Given the description of an element on the screen output the (x, y) to click on. 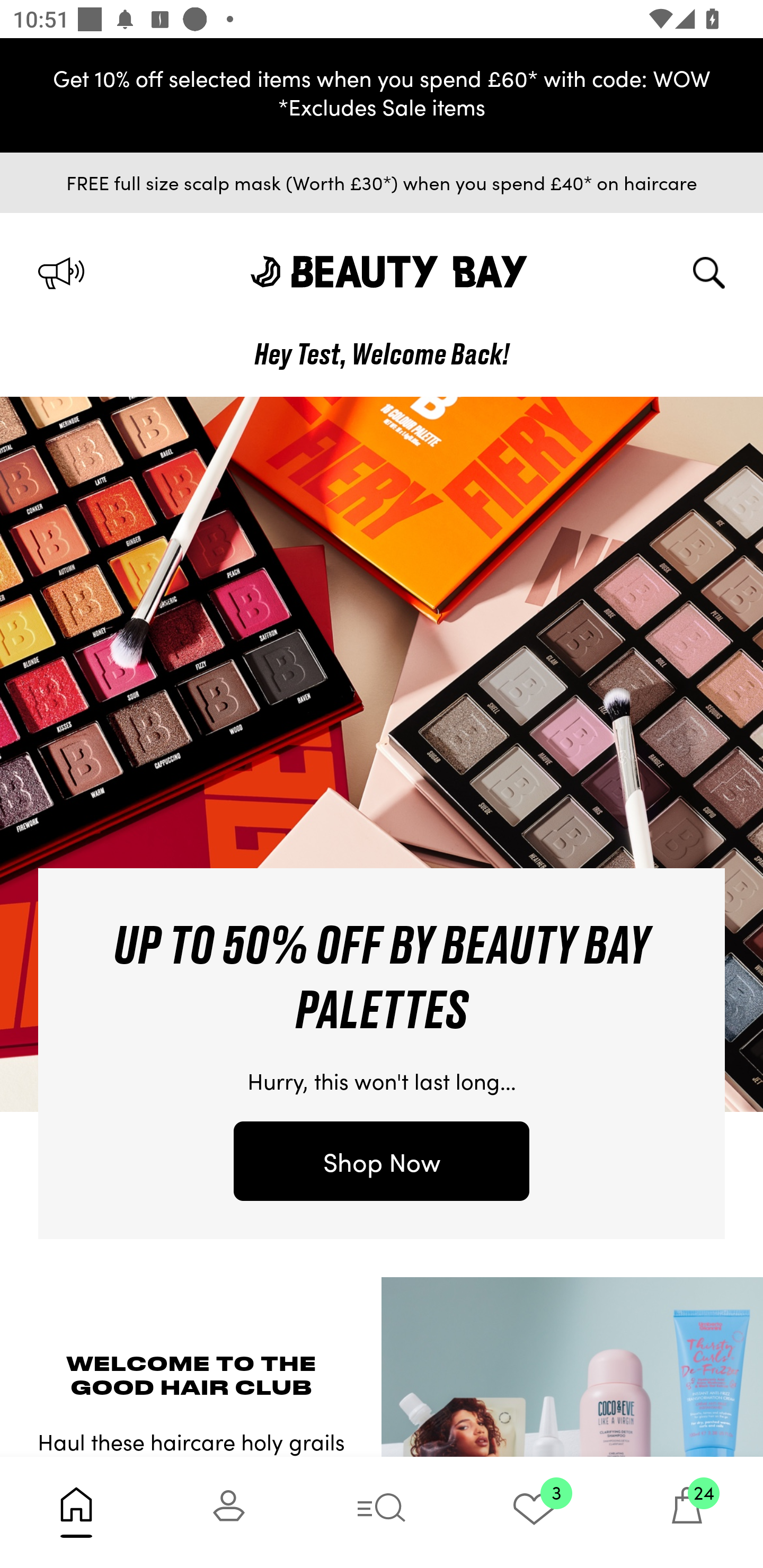
3 (533, 1512)
24 (686, 1512)
